Given the description of an element on the screen output the (x, y) to click on. 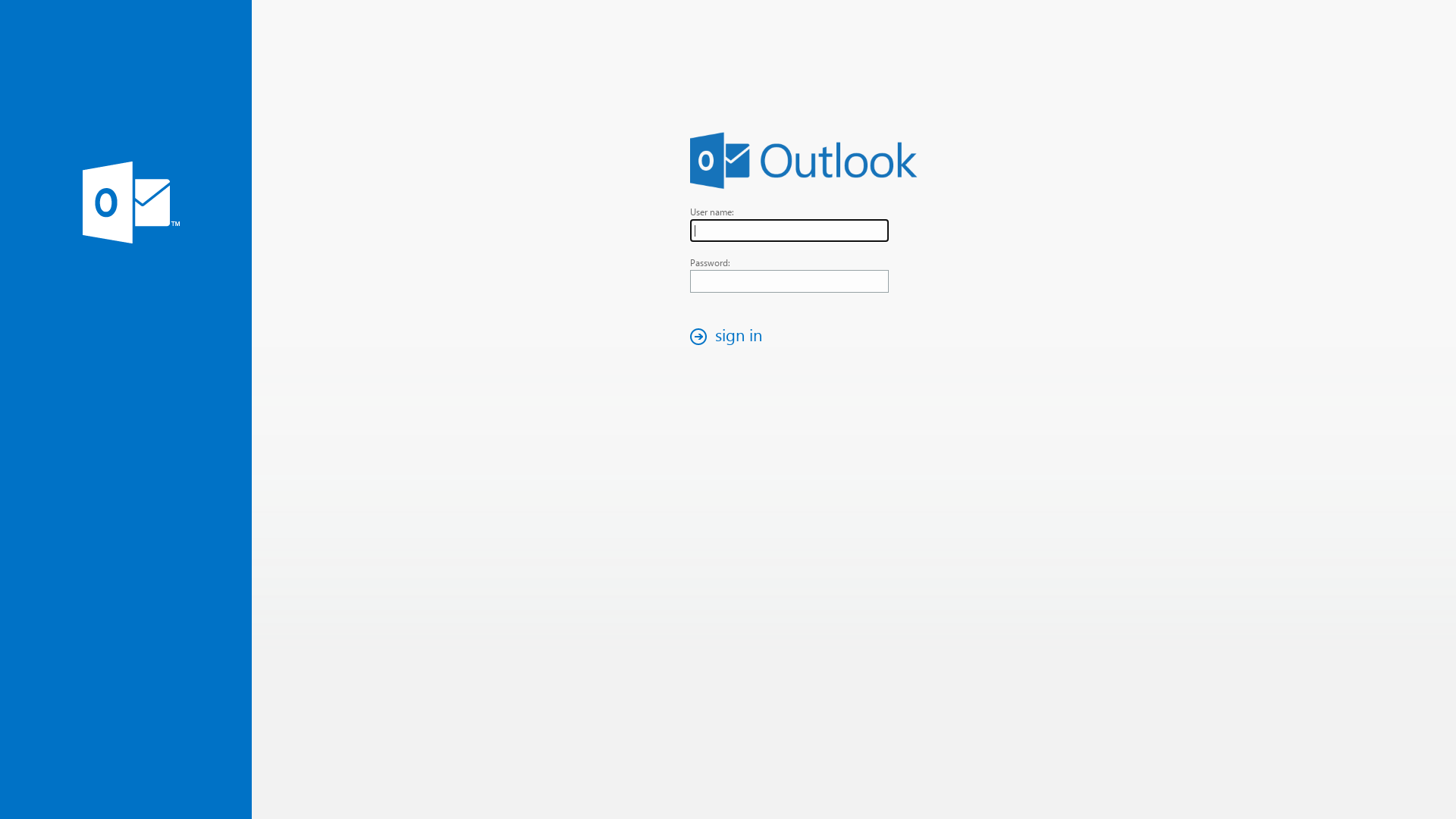
sign in Element type: text (730, 336)
